Given the description of an element on the screen output the (x, y) to click on. 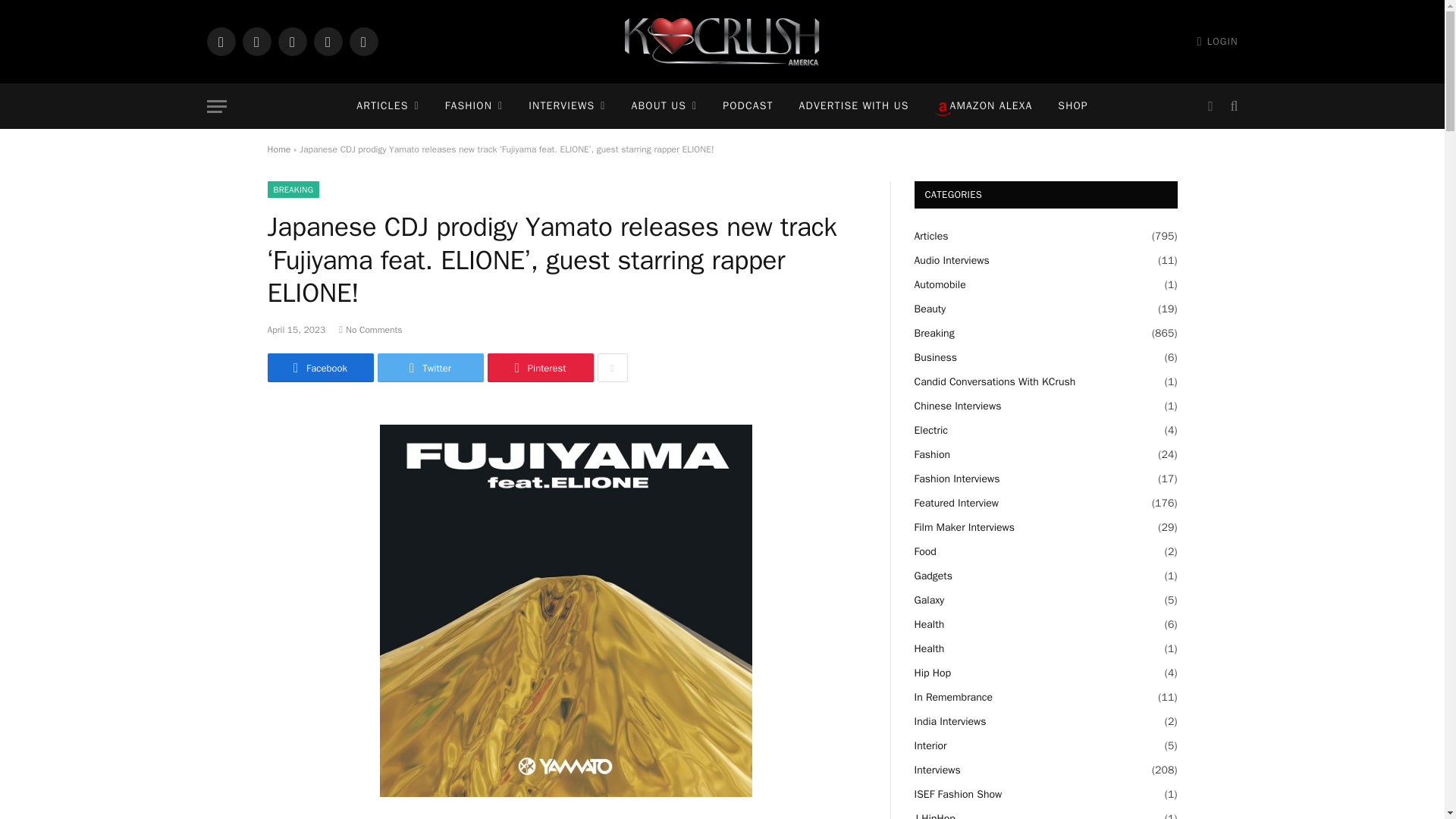
Share on Pinterest (539, 367)
Switch to Dark Design - easier on eyes. (1209, 106)
K Crush America Magazine (722, 41)
Share on Facebook (319, 367)
